Given the description of an element on the screen output the (x, y) to click on. 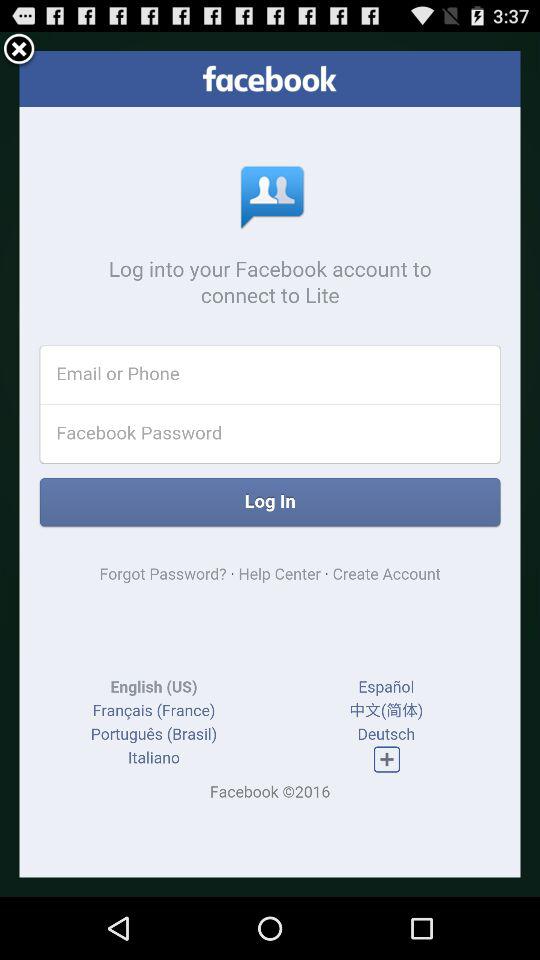
close (19, 50)
